Given the description of an element on the screen output the (x, y) to click on. 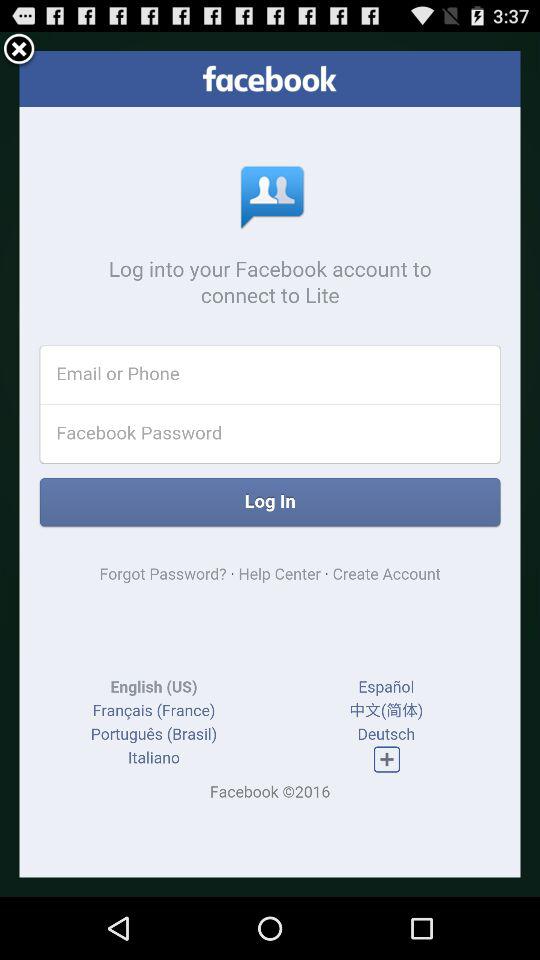
close (19, 50)
